Given the description of an element on the screen output the (x, y) to click on. 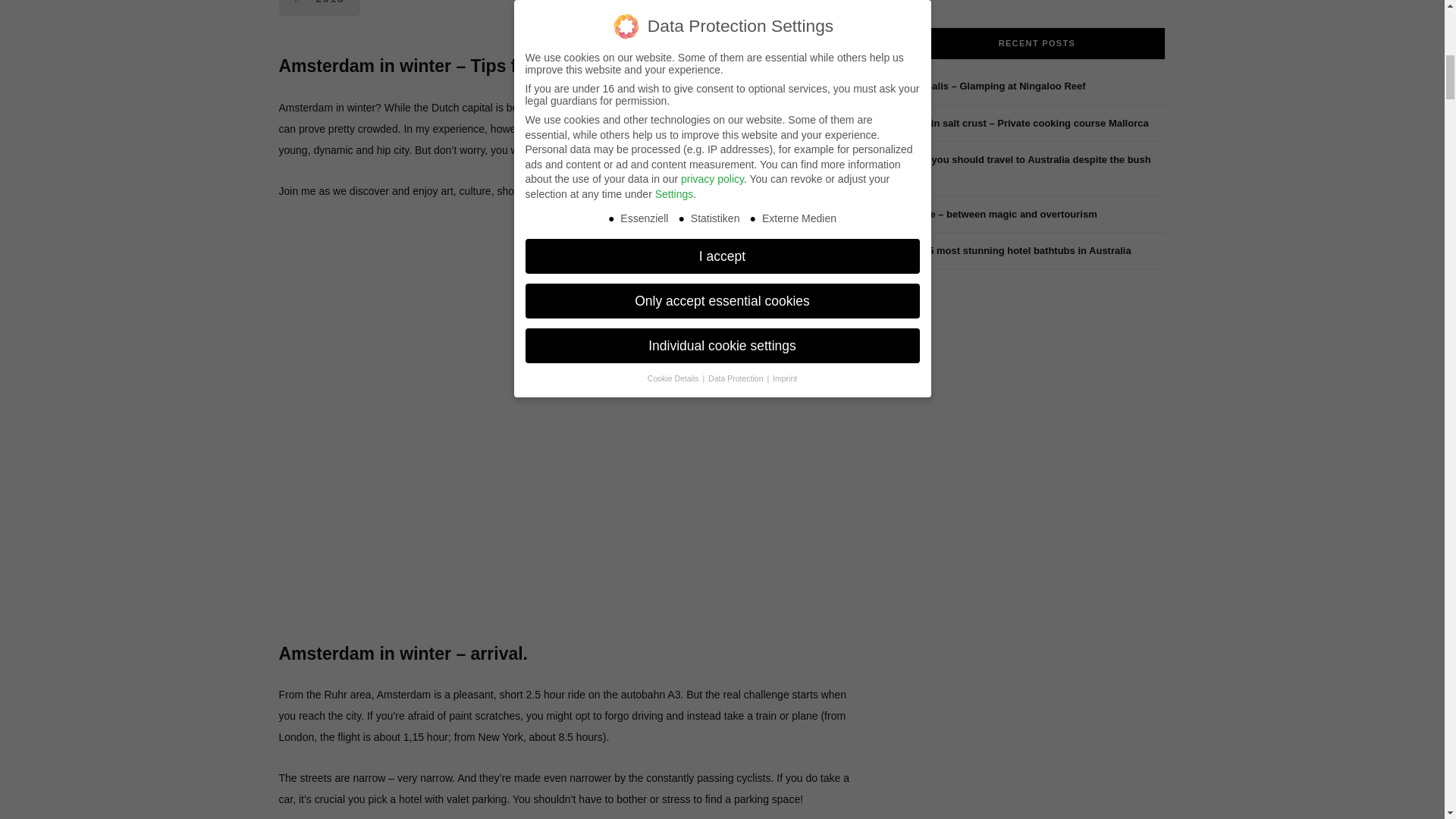
2018 (320, 7)
